Given the description of an element on the screen output the (x, y) to click on. 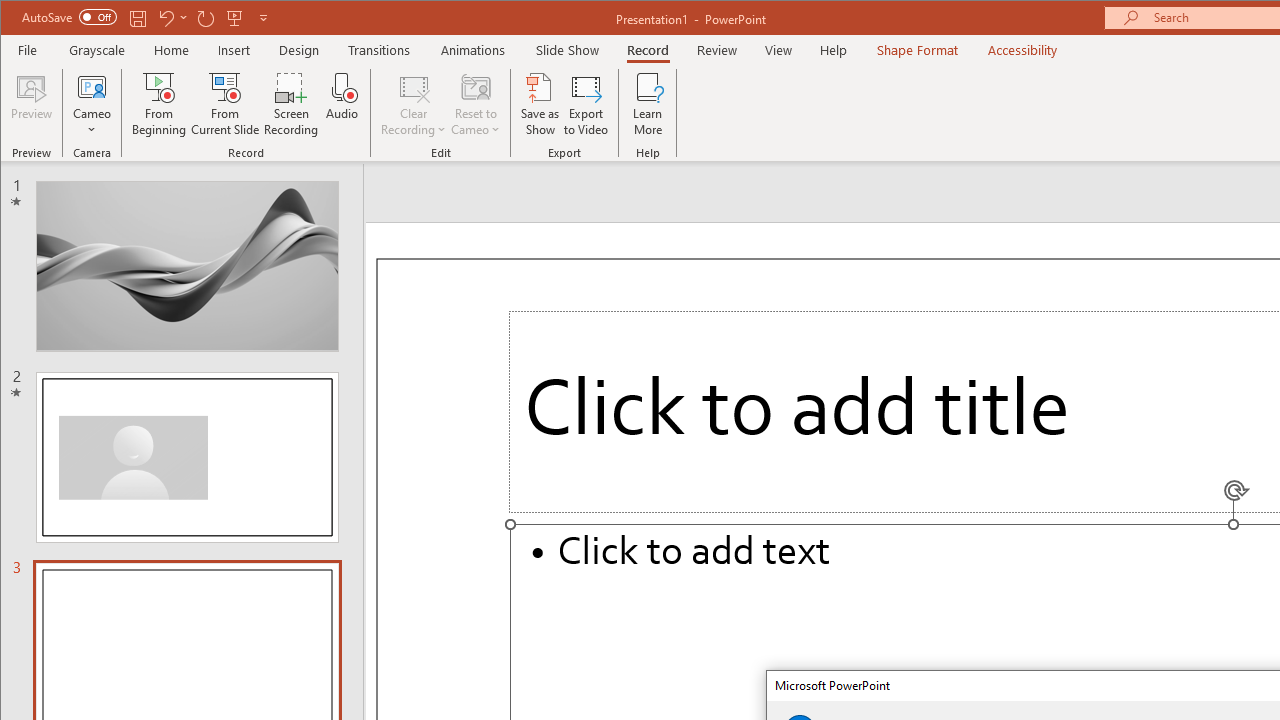
Grayscale (97, 50)
From Current Slide... (225, 104)
Learn More (648, 104)
Reset to Cameo (476, 104)
